Given the description of an element on the screen output the (x, y) to click on. 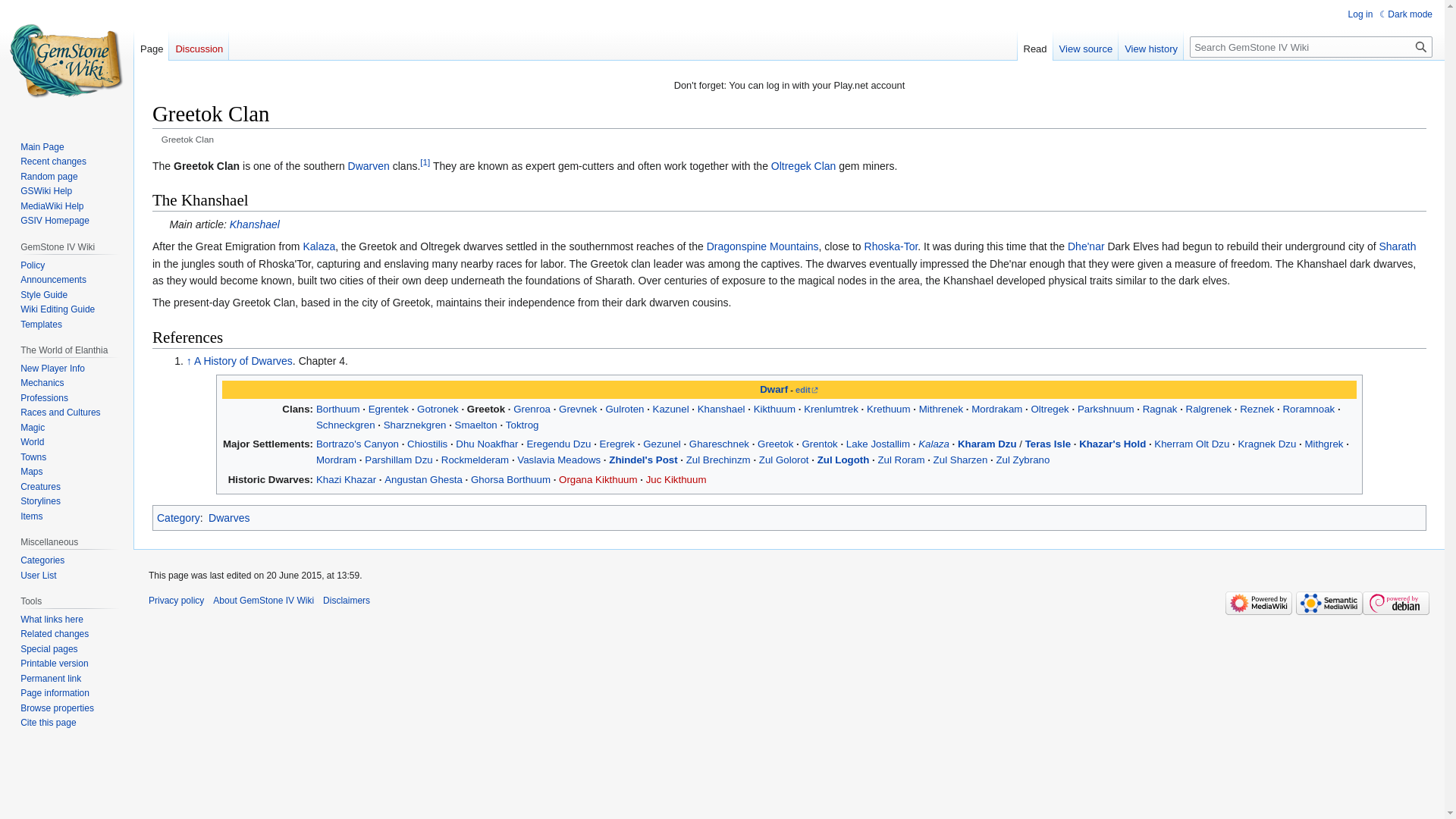
Ragnak (1159, 408)
Khanshael (254, 224)
edit (806, 388)
Parkshnuum (1105, 408)
Gotronek Clan (437, 408)
Greetok (486, 408)
Dhe'nar (1086, 246)
Mithrenek (940, 408)
Dragonspine Mountains (762, 246)
Kalaza (318, 246)
Oltregek (1049, 408)
Sharath (1396, 246)
Grevnek (577, 408)
Greetok Clan (206, 165)
Krenlumtrek (831, 408)
